Given the description of an element on the screen output the (x, y) to click on. 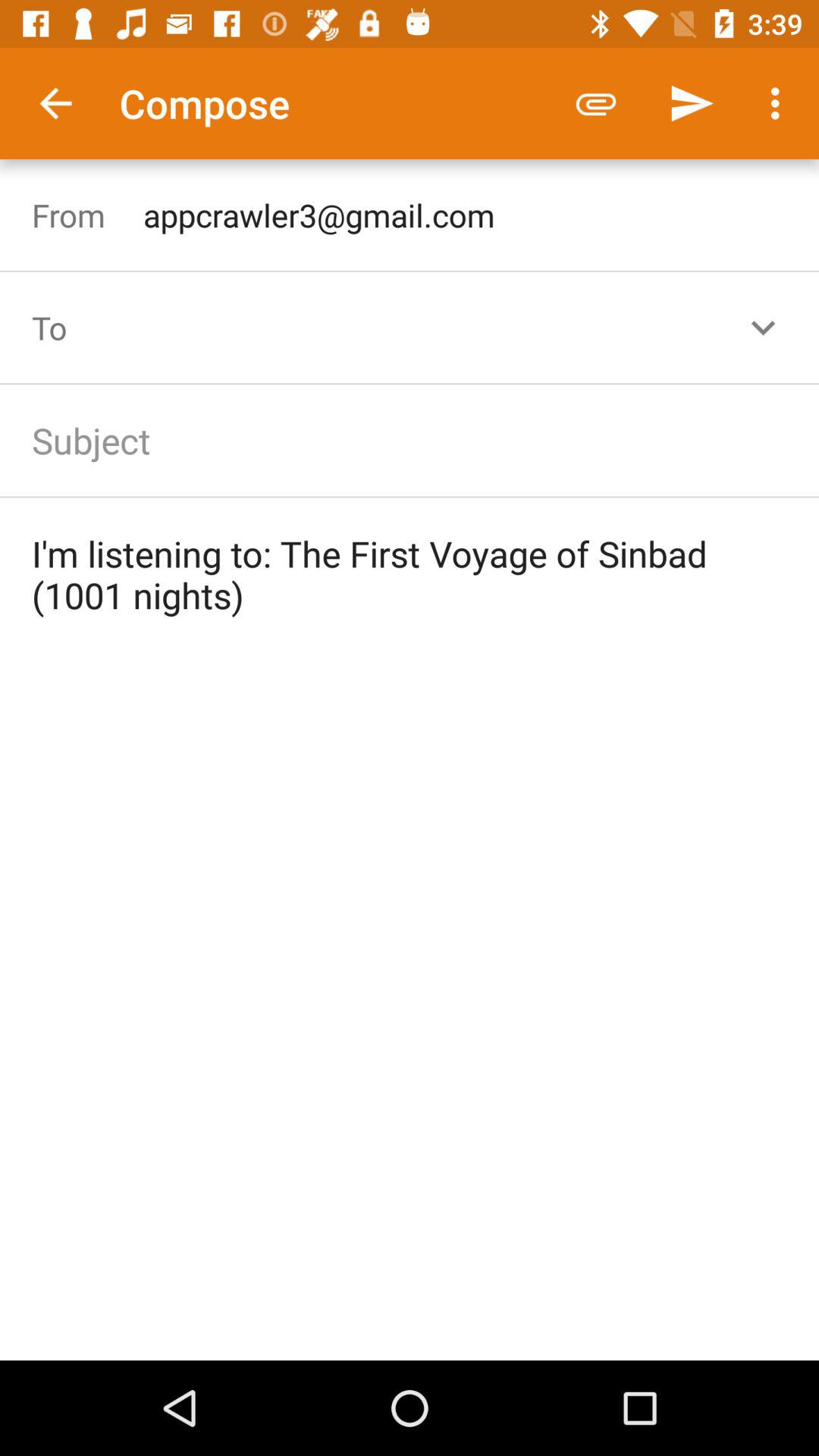
open i m listening item (409, 574)
